Given the description of an element on the screen output the (x, y) to click on. 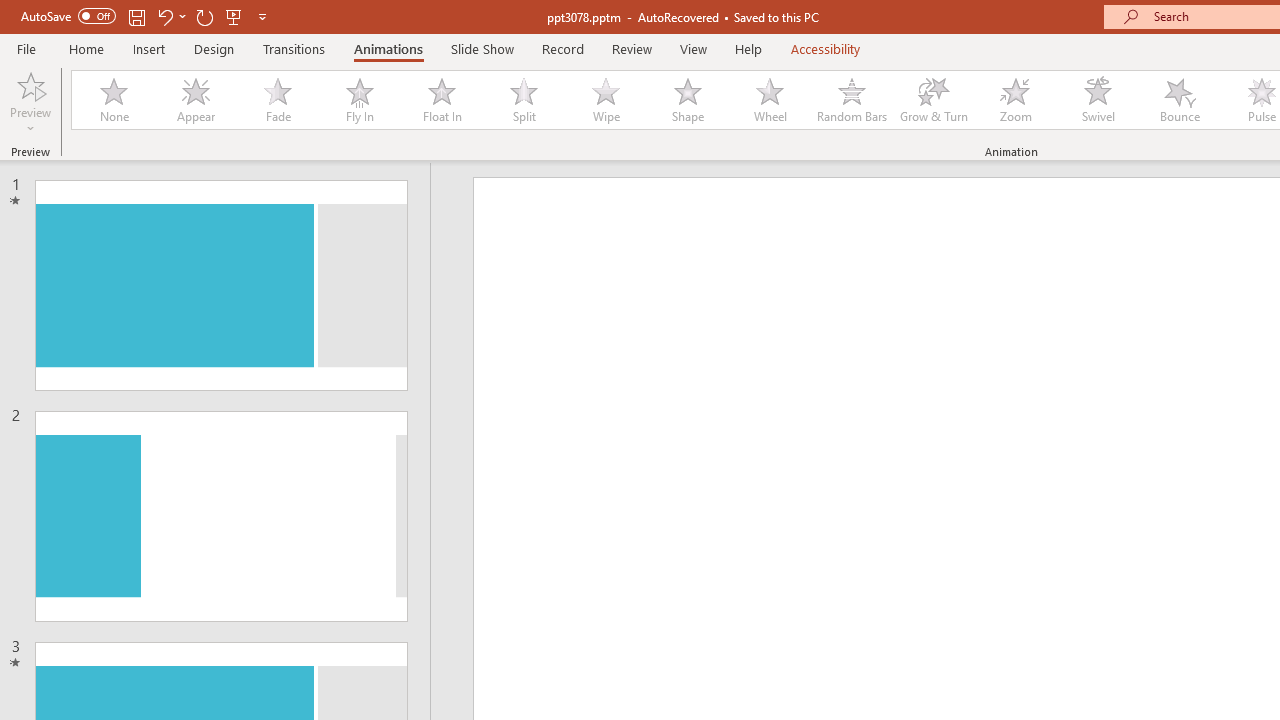
Wheel (770, 100)
Random Bars (852, 100)
Float In (441, 100)
Split (523, 100)
